Given the description of an element on the screen output the (x, y) to click on. 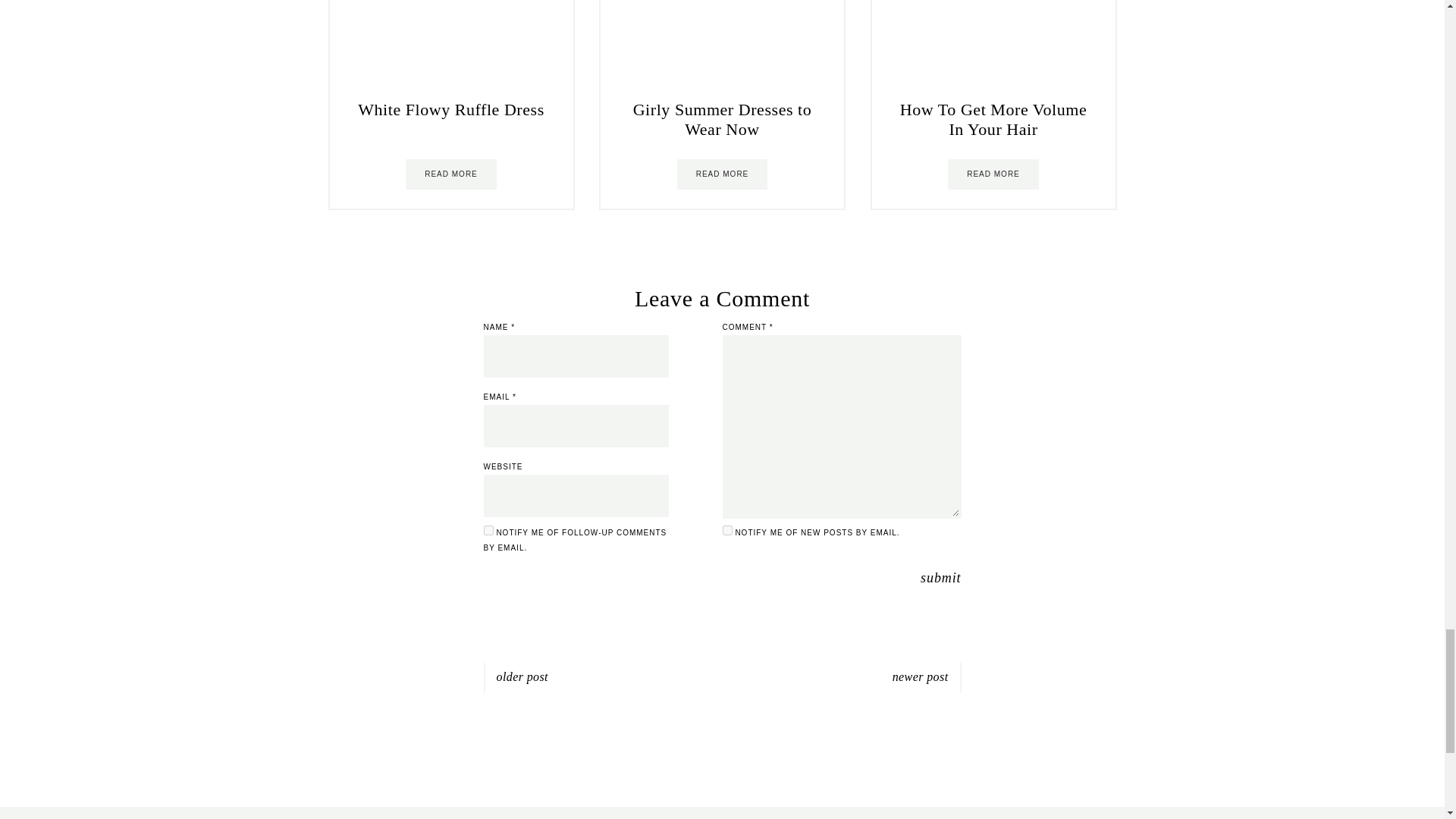
subscribe (488, 530)
subscribe (727, 530)
Submit (940, 578)
